Given the description of an element on the screen output the (x, y) to click on. 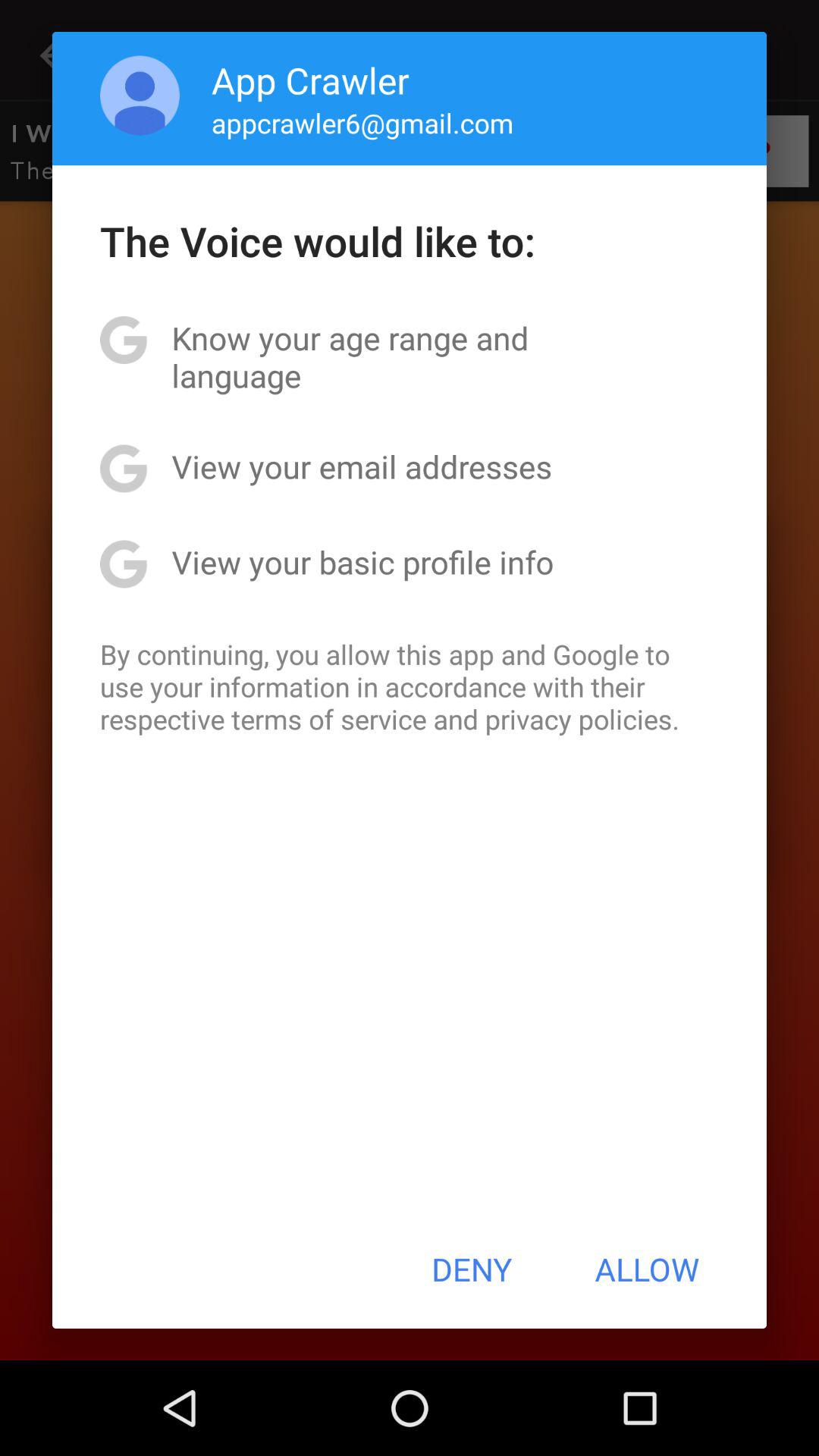
turn on deny at the bottom (471, 1268)
